Given the description of an element on the screen output the (x, y) to click on. 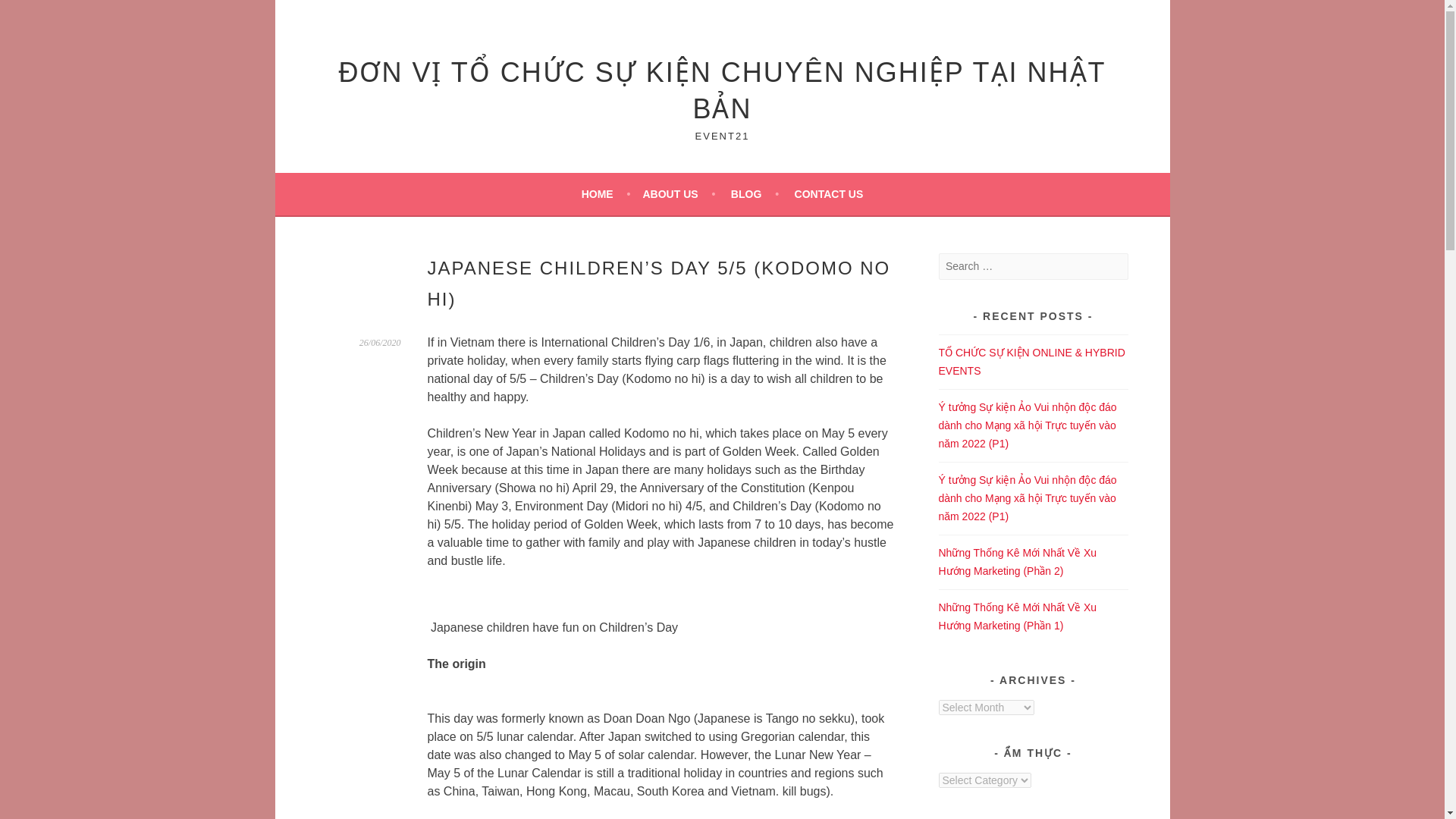
CONTACT US (828, 194)
ABOUT US (678, 194)
Search (30, 13)
HOME (605, 194)
BLOG (754, 194)
